Given the description of an element on the screen output the (x, y) to click on. 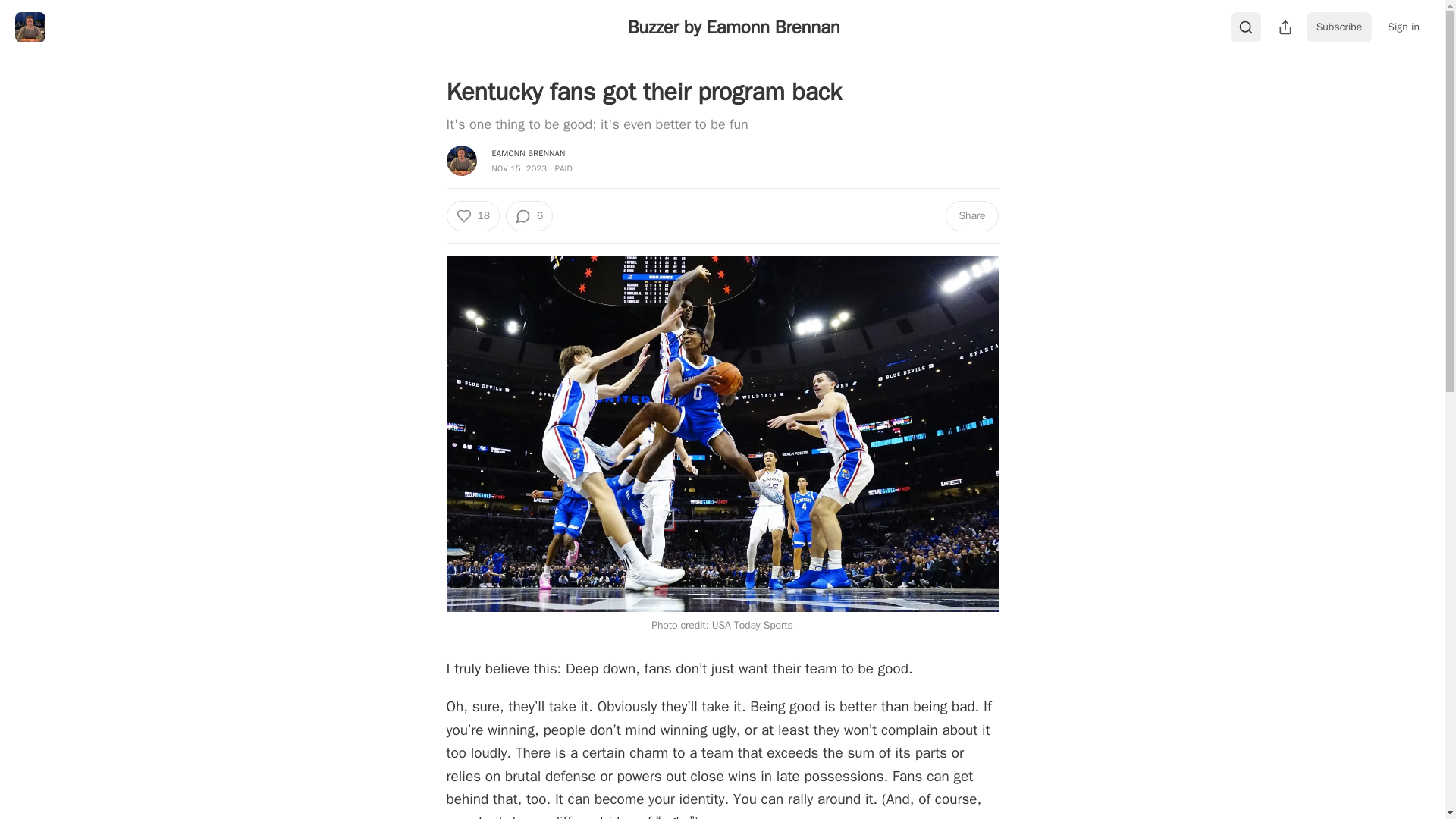
Sign in (1403, 27)
Subscribe (1339, 27)
Buzzer by Eamonn Brennan (733, 26)
EAMONN BRENNAN (528, 153)
6 (529, 215)
Share (970, 215)
18 (472, 215)
